Given the description of an element on the screen output the (x, y) to click on. 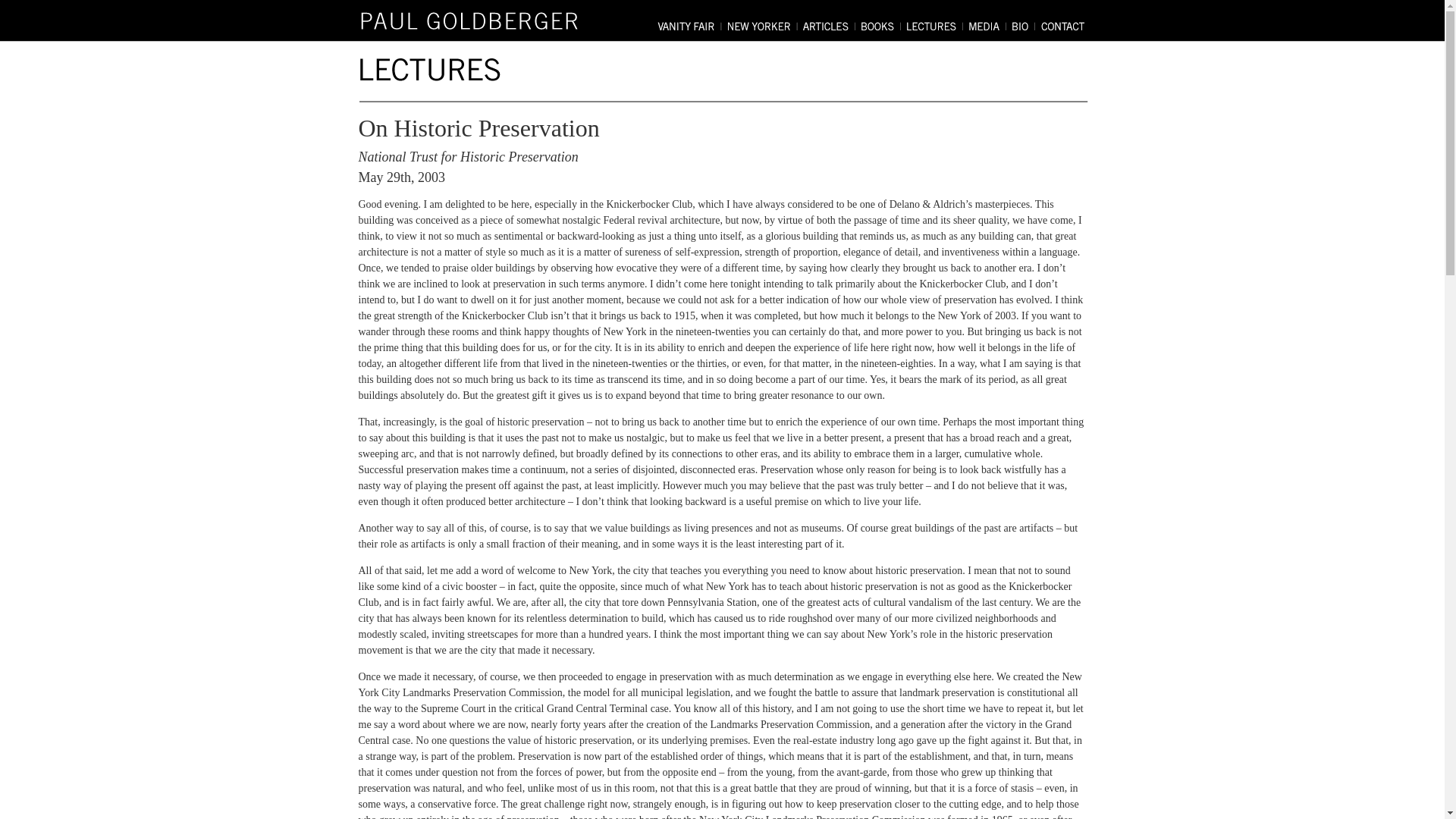
Lectures (935, 25)
Biography (1023, 25)
Books (880, 25)
Media (987, 25)
Contact (1062, 25)
From The New Yorker (762, 25)
Other Articles (829, 25)
From Vanity Fair (690, 25)
